Given the description of an element on the screen output the (x, y) to click on. 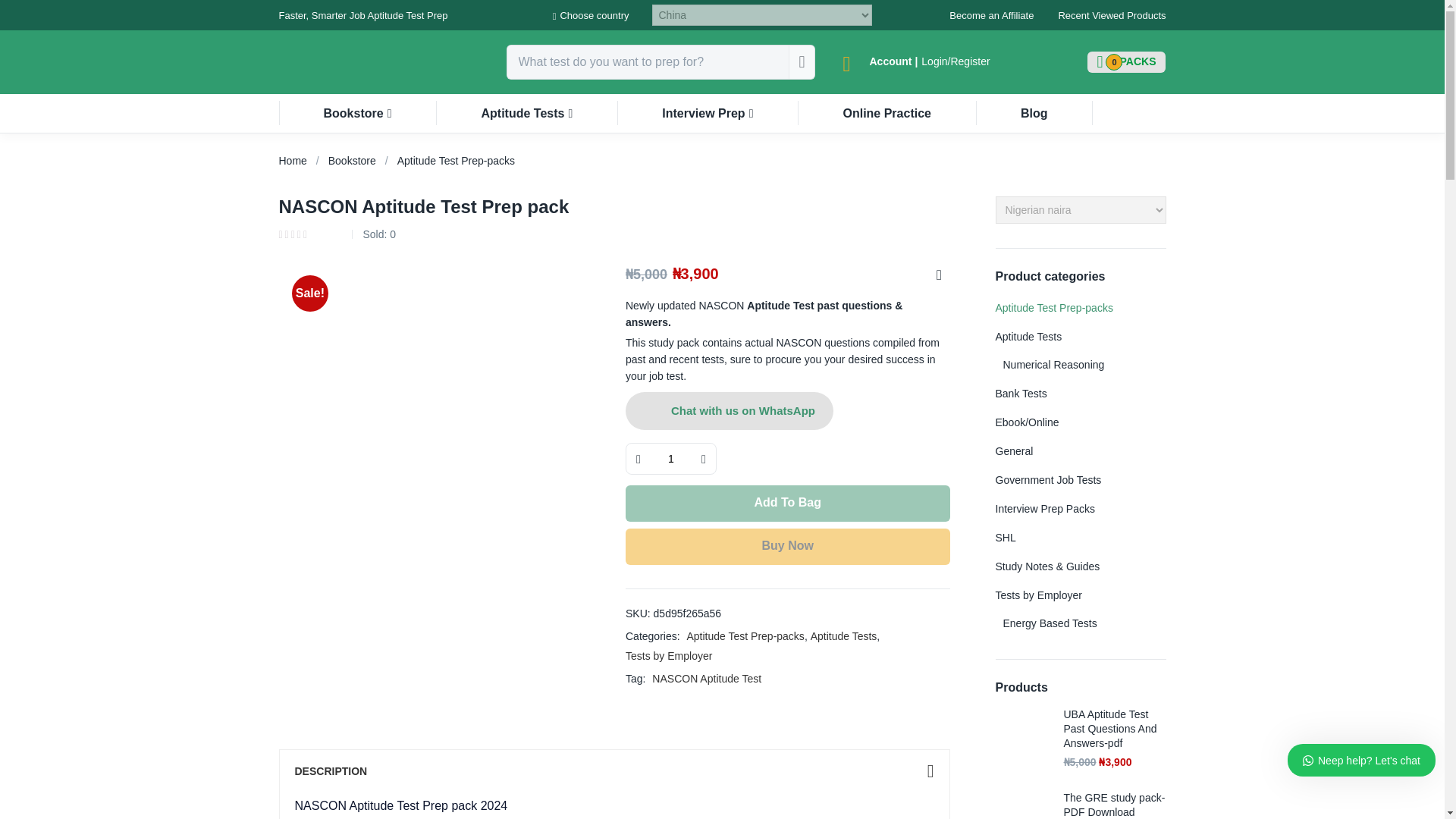
Become an Affiliate (1127, 62)
Home (991, 15)
Choose country (293, 160)
View your shopping cart (590, 15)
Aptitude Test Prep-packs (1127, 62)
1 (456, 160)
Blog (670, 458)
Online Practice (1034, 113)
Bookstore (886, 113)
Chat with us on WhatsApp (352, 160)
Bookstore (729, 410)
Aptitude Tests (357, 113)
Interview Prep (526, 113)
Faster, Smarter Job Aptitude Test Prep (707, 113)
